Given the description of an element on the screen output the (x, y) to click on. 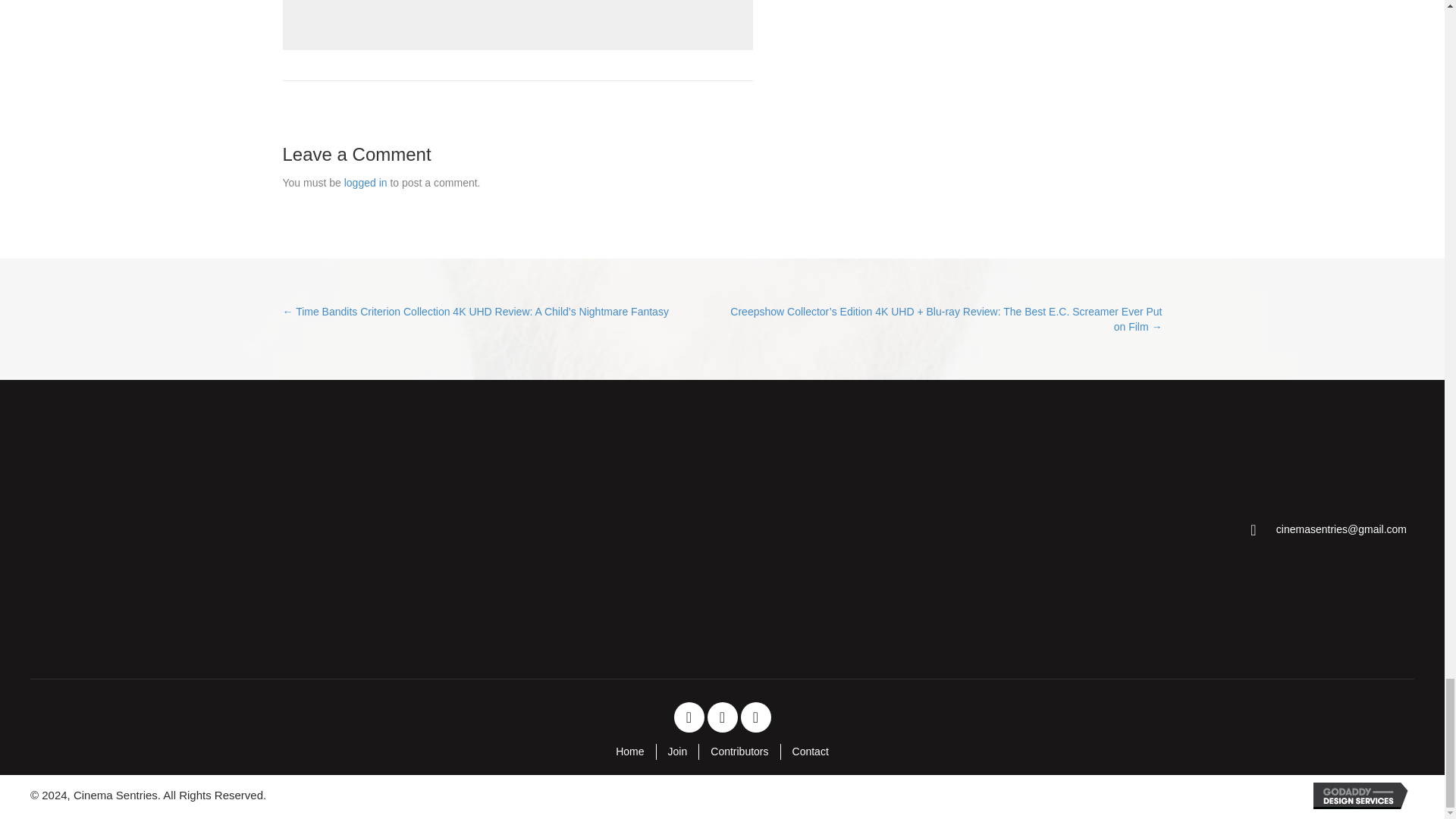
Cinema Sentries (148, 529)
Instagram (754, 716)
Facebook (687, 716)
Twitter (721, 716)
logged in (365, 182)
